Given the description of an element on the screen output the (x, y) to click on. 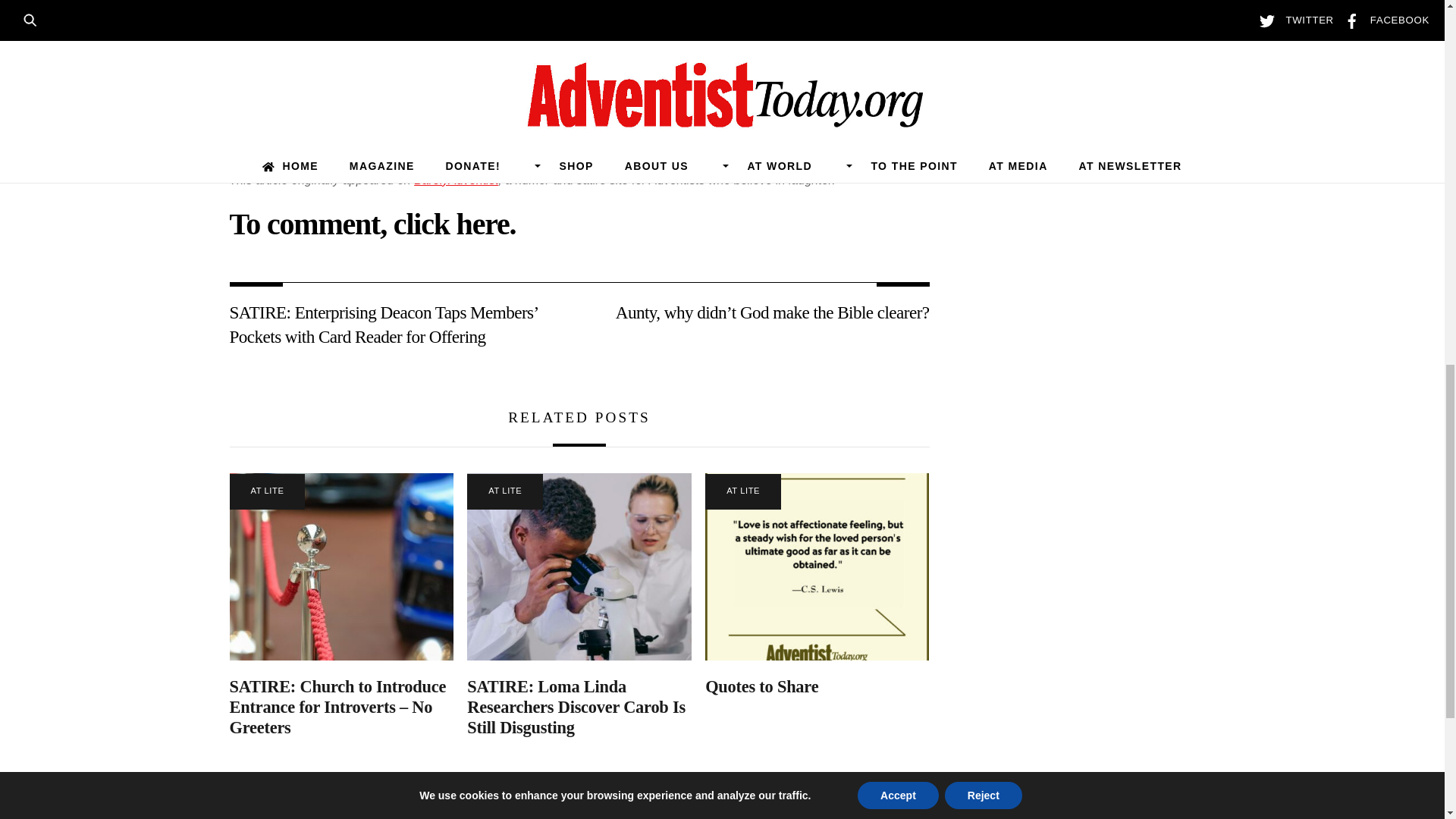
AT LITE (266, 491)
To comment, click here. (371, 223)
QUOTE-CSLewis2 (816, 566)
BarelyAdventist (455, 179)
